Given the description of an element on the screen output the (x, y) to click on. 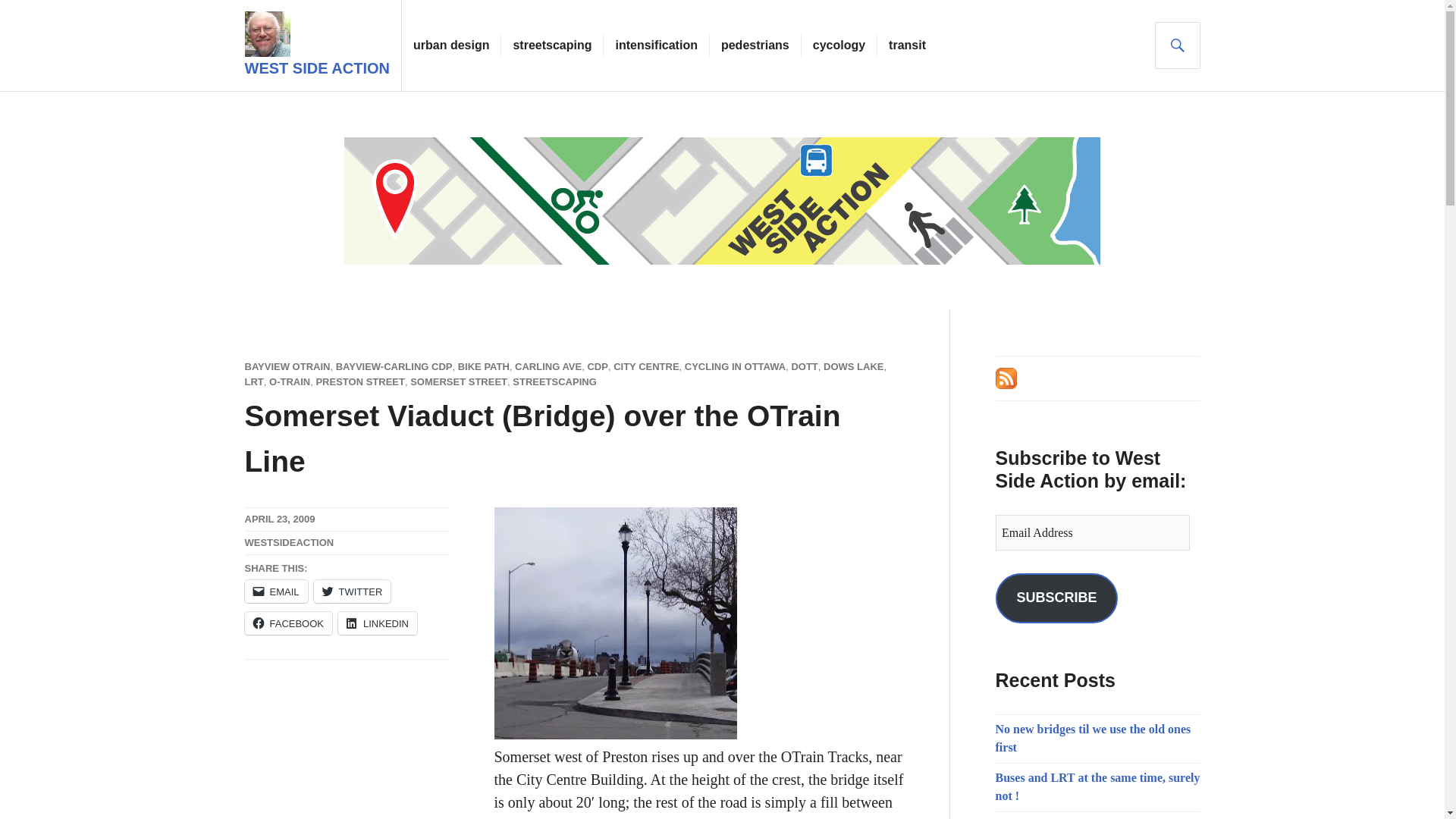
intensification (655, 45)
Click to share on Twitter (352, 590)
CYCLING IN OTTAWA (735, 366)
BAYVIEW OTRAIN (287, 366)
Click to share on LinkedIn (376, 622)
DOWS LAKE (853, 366)
pedestrians (754, 45)
EMAIL (275, 590)
CITY CENTRE (645, 366)
PRESTON STREET (359, 381)
LINKEDIN (376, 622)
O-TRAIN (289, 381)
LRT (253, 381)
STREETSCAPING (554, 381)
Click to share on Facebook (287, 622)
